Given the description of an element on the screen output the (x, y) to click on. 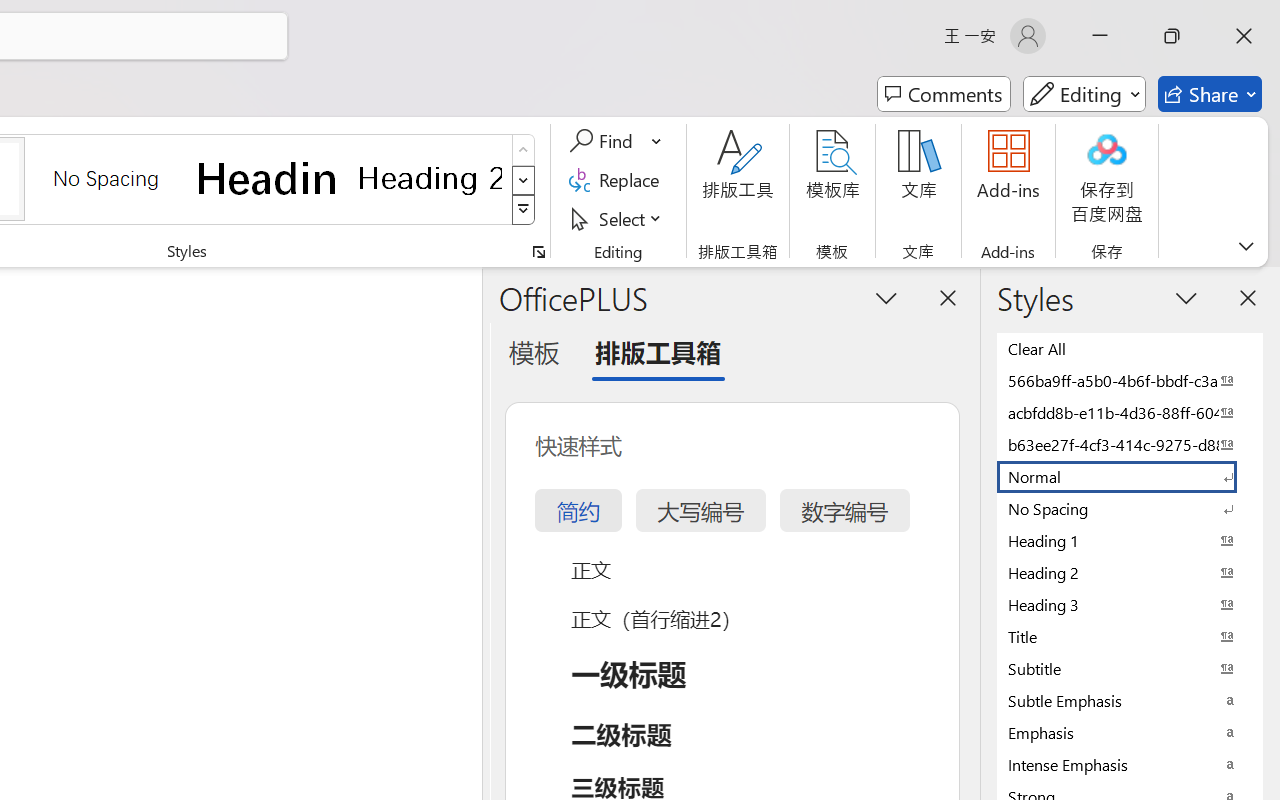
Title (1130, 636)
acbfdd8b-e11b-4d36-88ff-6049b138f862 (1130, 412)
Styles (523, 209)
Styles... (538, 252)
Ribbon Display Options (1246, 245)
Subtitle (1130, 668)
Select (618, 218)
566ba9ff-a5b0-4b6f-bbdf-c3ab41993fc2 (1130, 380)
Emphasis (1130, 732)
Row up (523, 150)
Comments (943, 94)
